Given the description of an element on the screen output the (x, y) to click on. 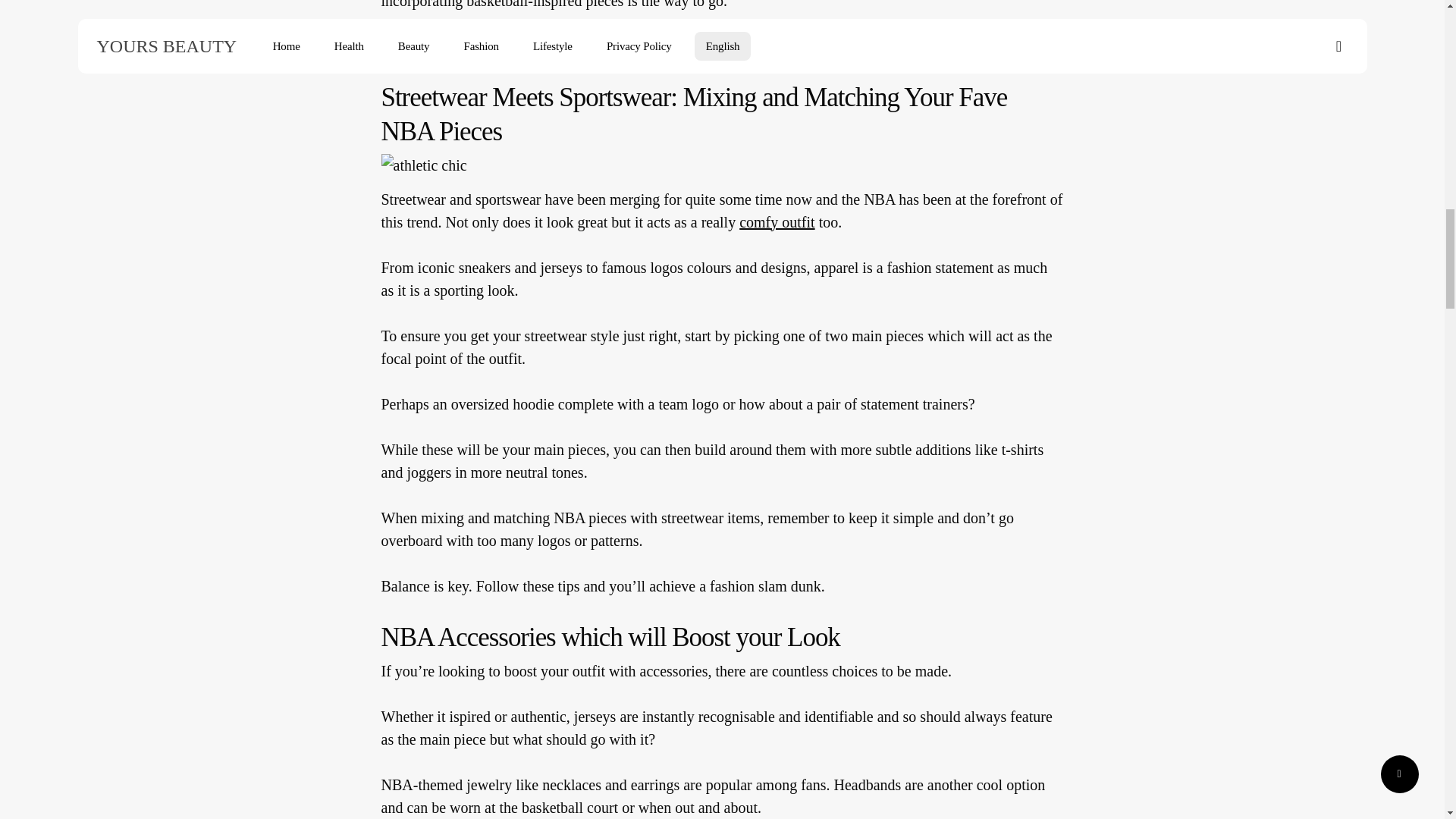
comfy outfit (776, 227)
